Given the description of an element on the screen output the (x, y) to click on. 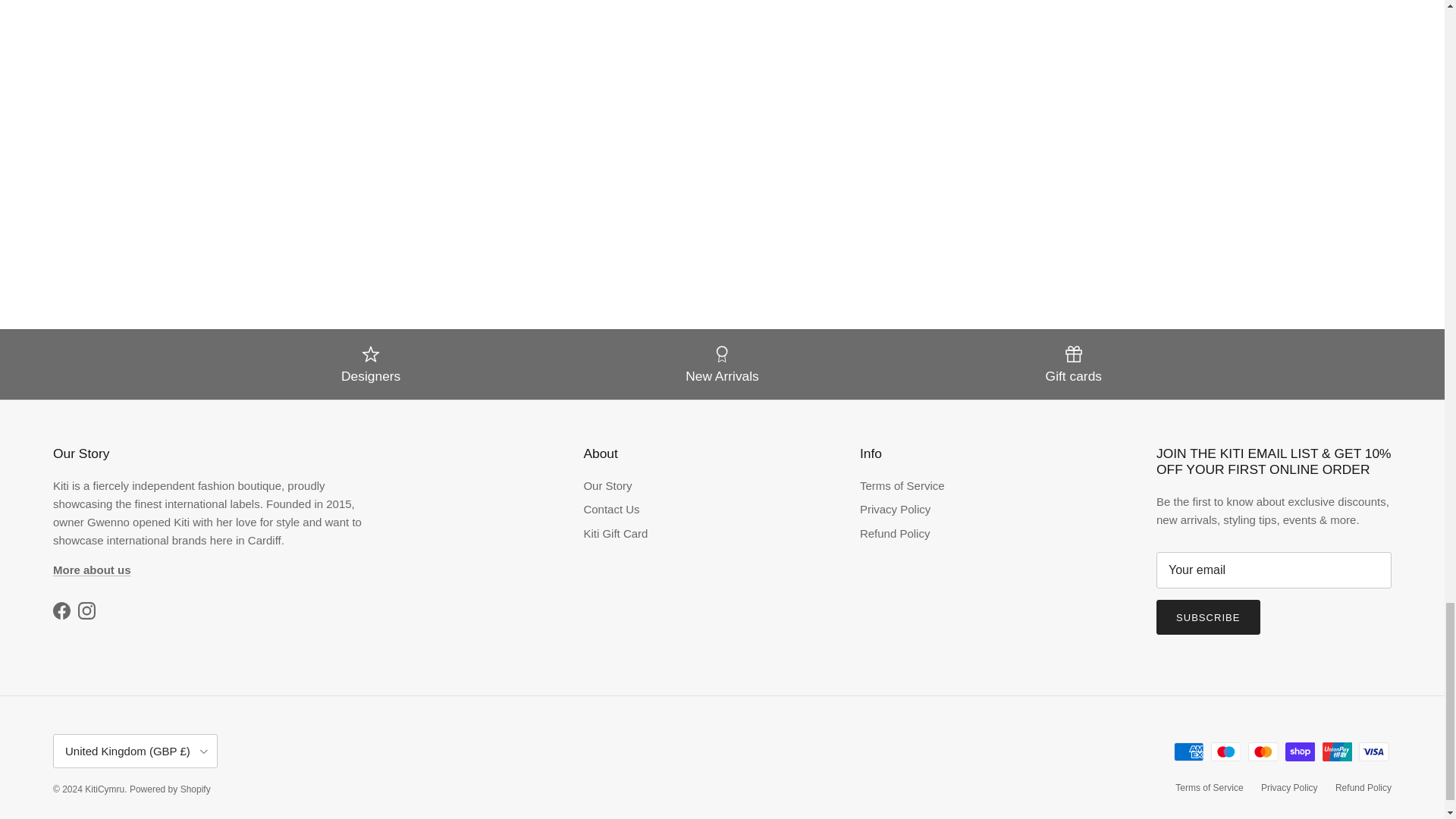
KitiCymru on Instagram (87, 610)
Maestro (1225, 751)
Our Story (91, 569)
KitiCymru on Facebook (60, 610)
American Express (1188, 751)
